Given the description of an element on the screen output the (x, y) to click on. 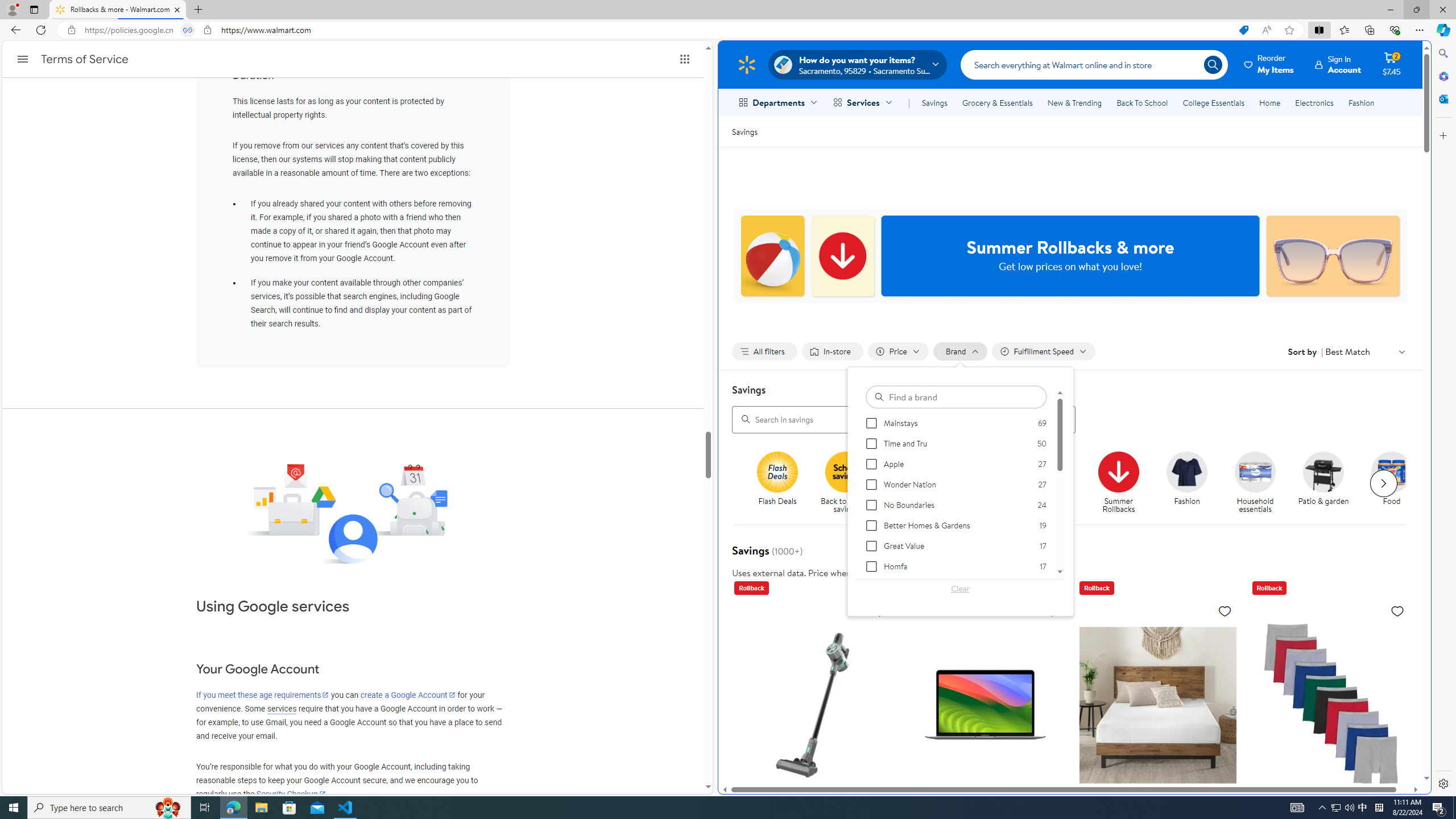
Back to college savings (917, 483)
Food (1395, 483)
Sort by Best Match (1366, 351)
New & Trending (1075, 102)
Next slide for chipModuleWithImages list (1383, 483)
Zinus Spa Sensations Serenity 8" Memory Foam Mattress, Full (1157, 704)
Summer Rollbacks Summer Rollbacks (1118, 483)
Tabs in split screen (187, 29)
Filter by Fulfillment Speed not applied, activate to change (1043, 351)
$20 and under (982, 471)
